Given the description of an element on the screen output the (x, y) to click on. 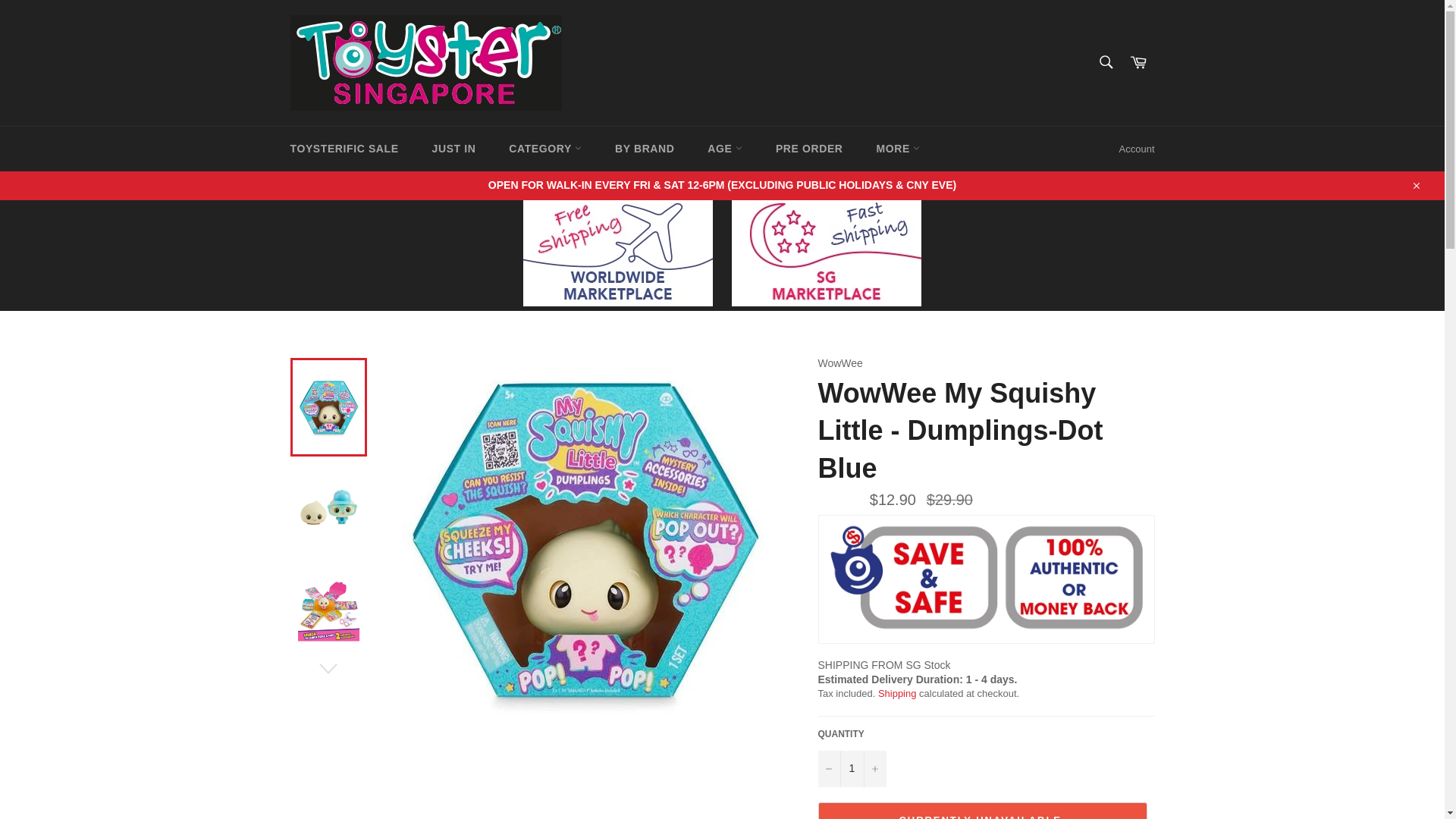
TOYSTER SG Stocks (826, 302)
TOYSTER Market Place (617, 302)
1 (850, 769)
